Given the description of an element on the screen output the (x, y) to click on. 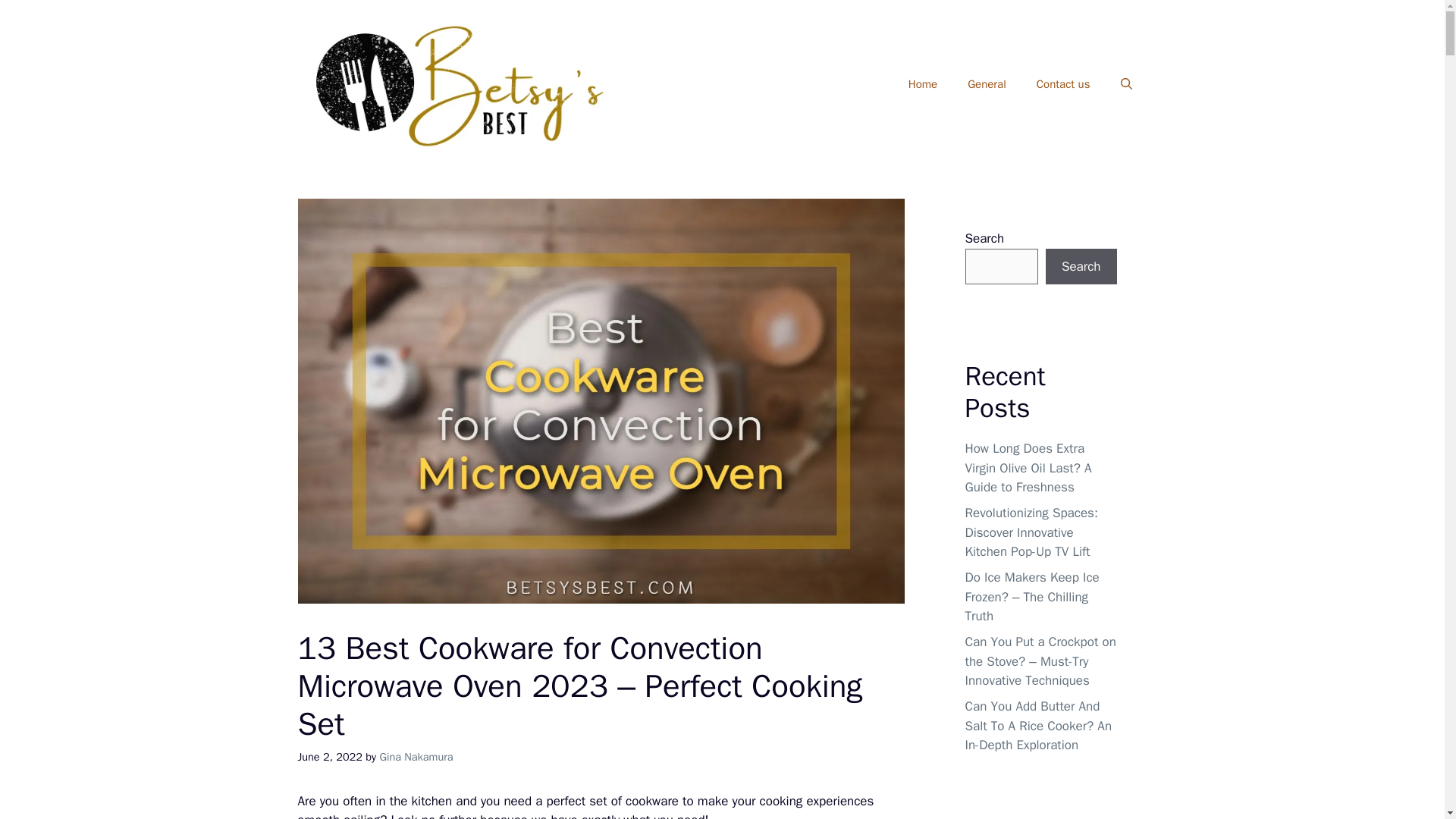
Contact us (1063, 84)
Home (922, 84)
Search (1080, 266)
View all posts by Gina Nakamura (415, 756)
General (987, 84)
Gina Nakamura (415, 756)
